Given the description of an element on the screen output the (x, y) to click on. 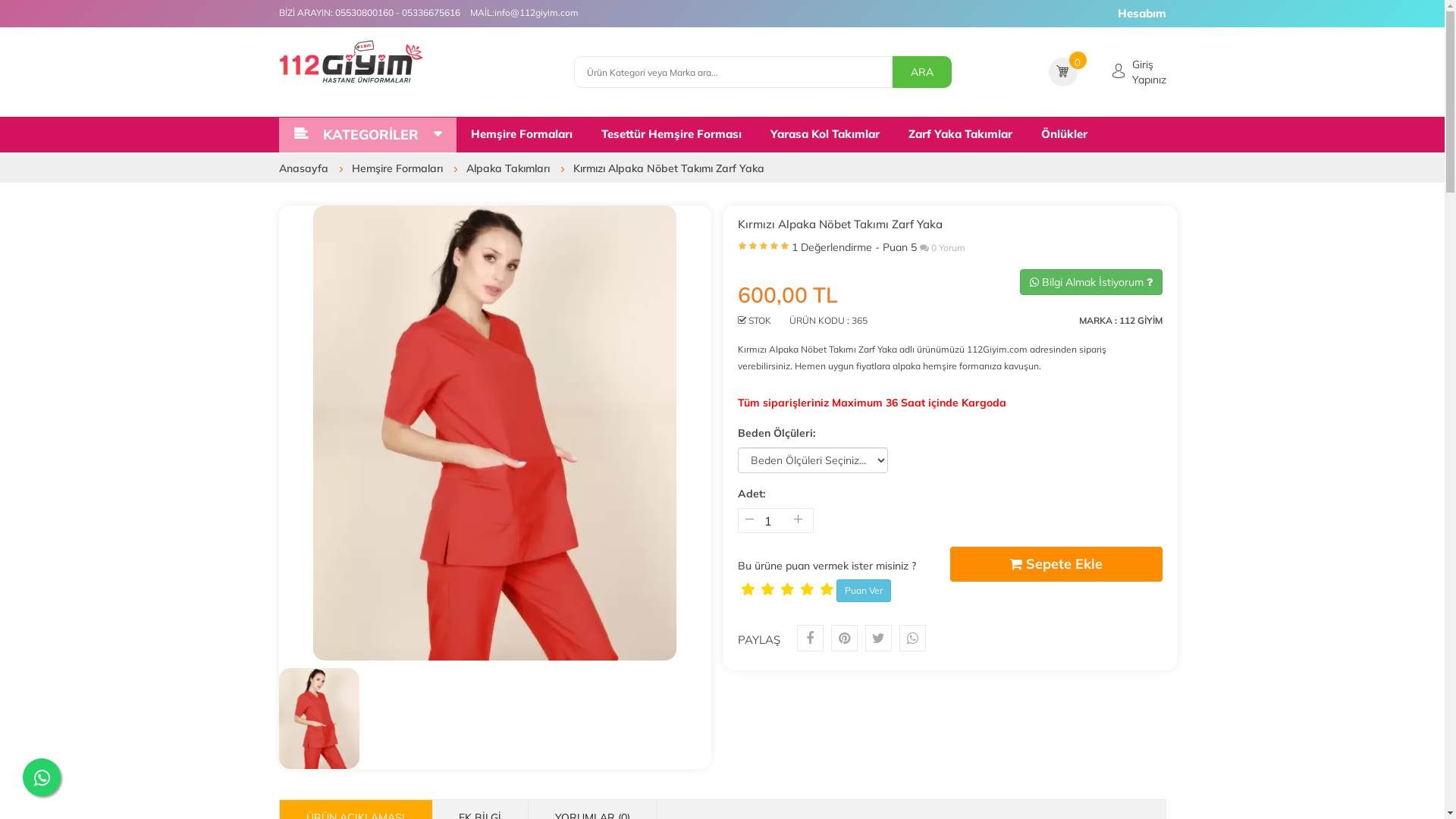
0 Yorum Element type: text (941, 247)
Sepete Ekle Element type: text (1055, 563)
ARA Element type: text (920, 71)
Anasayfa Element type: text (307, 168)
0 Element type: text (1077, 60)
Qty Element type: hover (773, 520)
1 oy verildi Oy:5.0 Element type: hover (762, 249)
Puan Ver Element type: text (862, 590)
